Given the description of an element on the screen output the (x, y) to click on. 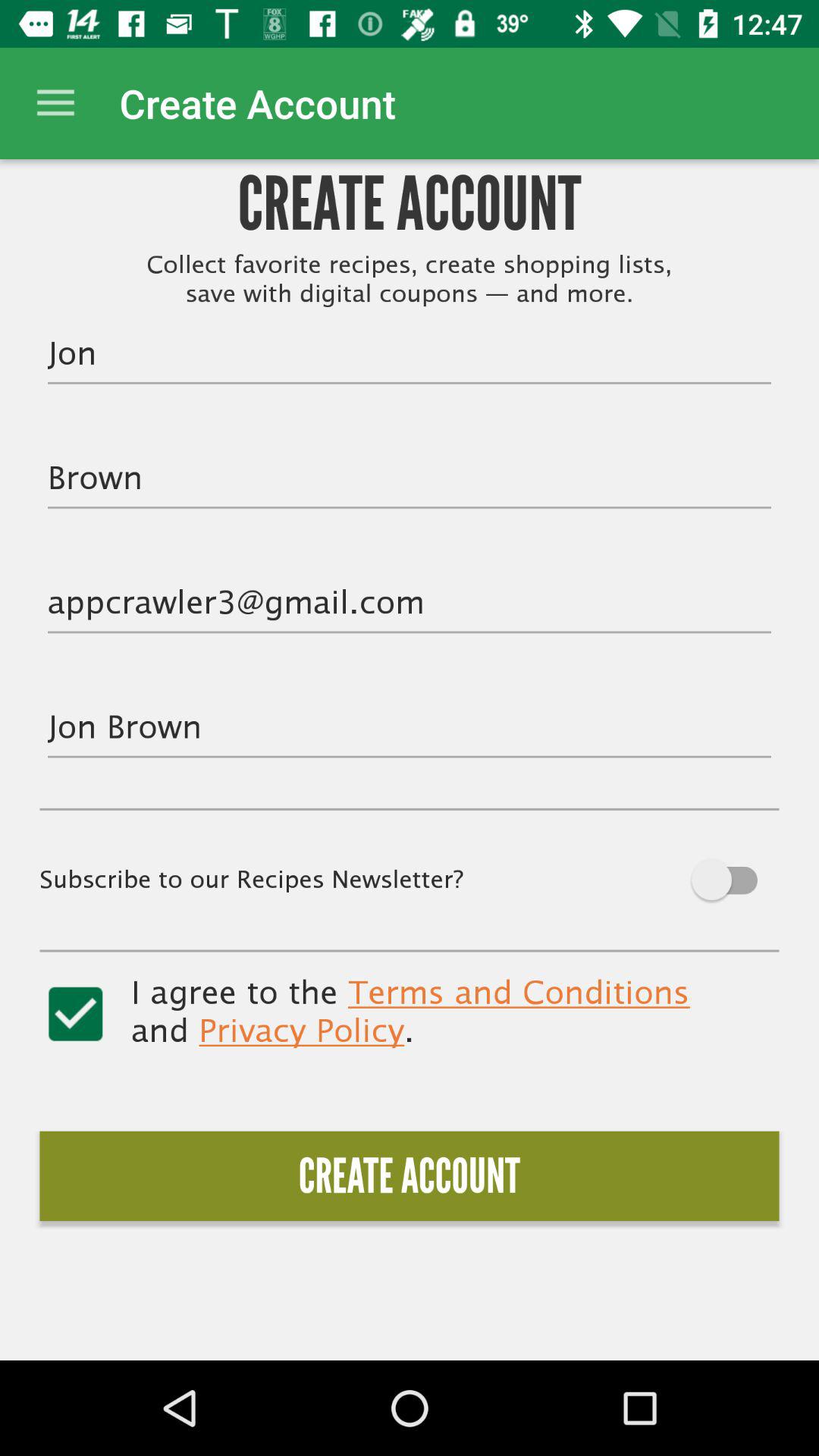
select toggle (75, 1013)
